Given the description of an element on the screen output the (x, y) to click on. 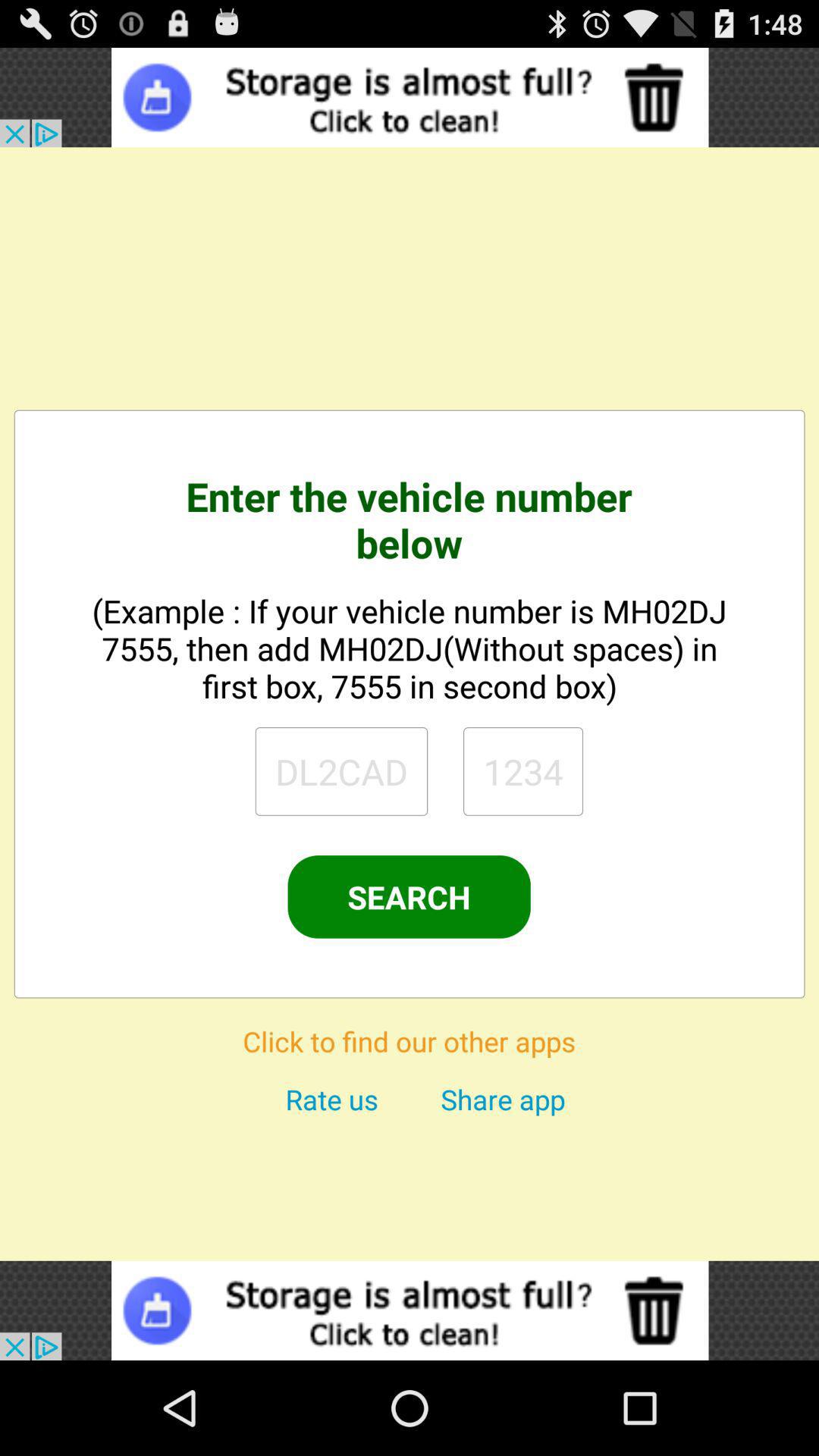
open the advertisements (409, 1310)
